Given the description of an element on the screen output the (x, y) to click on. 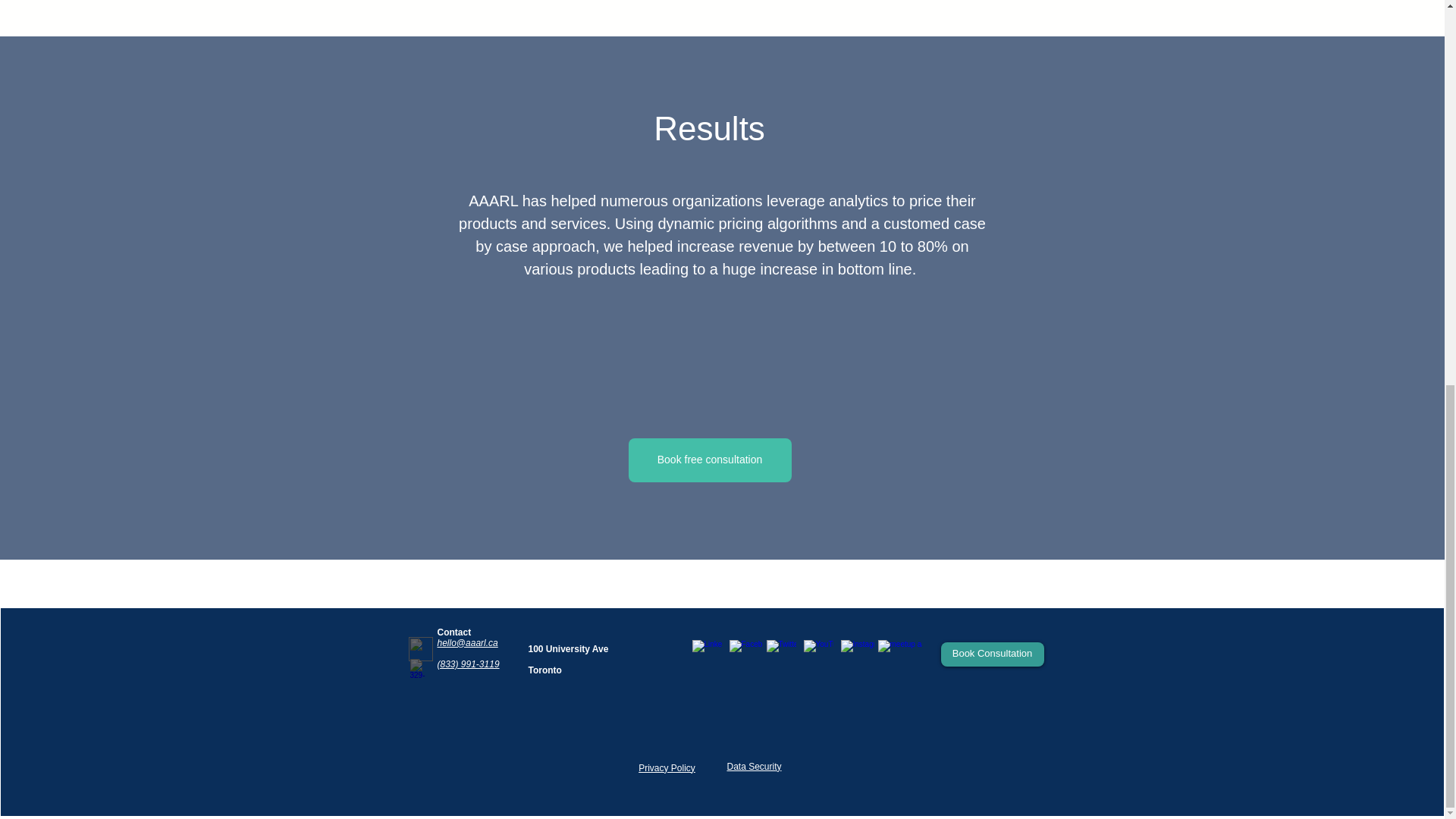
Book free consultation (708, 460)
